Given the description of an element on the screen output the (x, y) to click on. 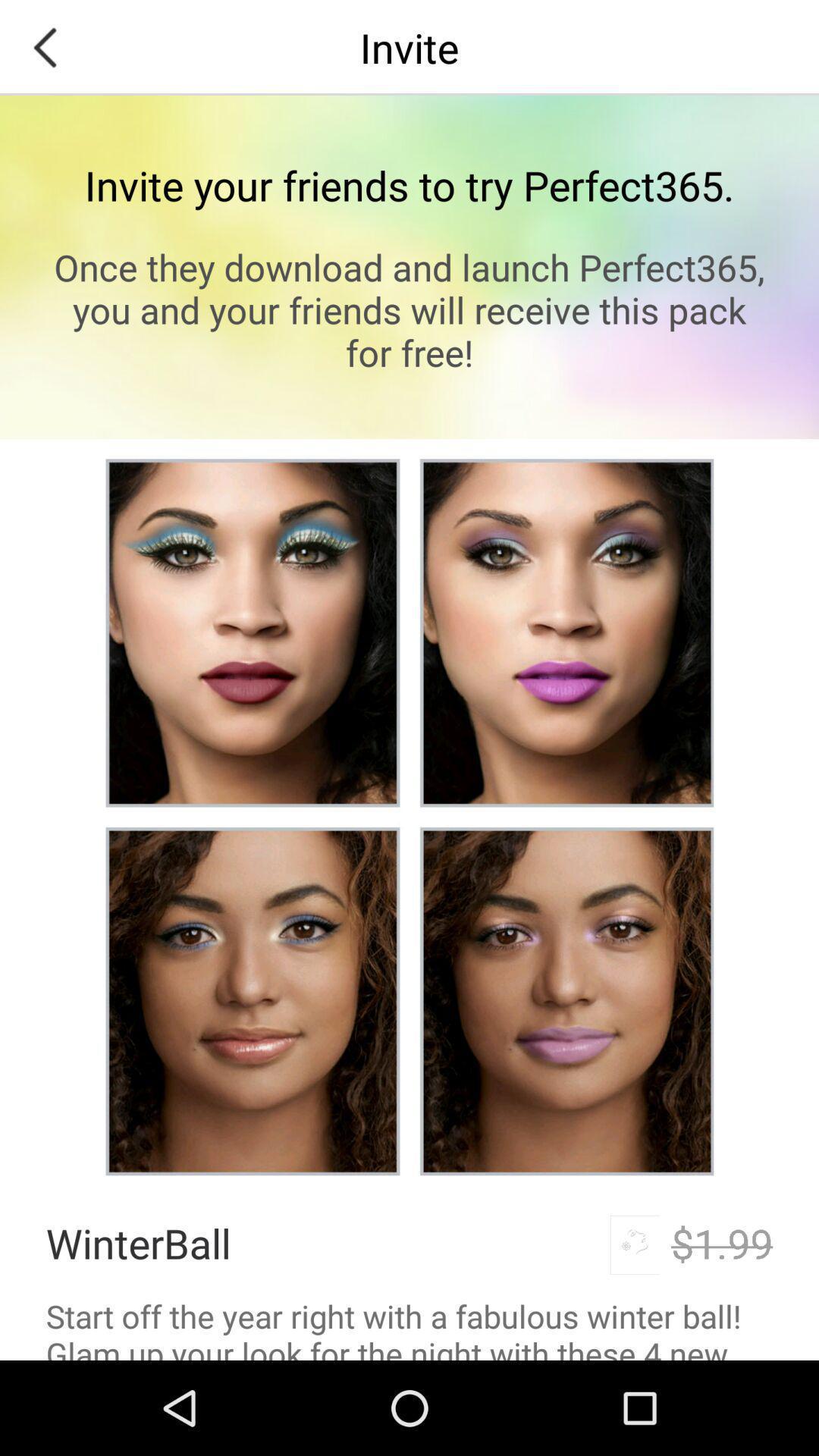
turn on icon at the bottom (409, 1327)
